Given the description of an element on the screen output the (x, y) to click on. 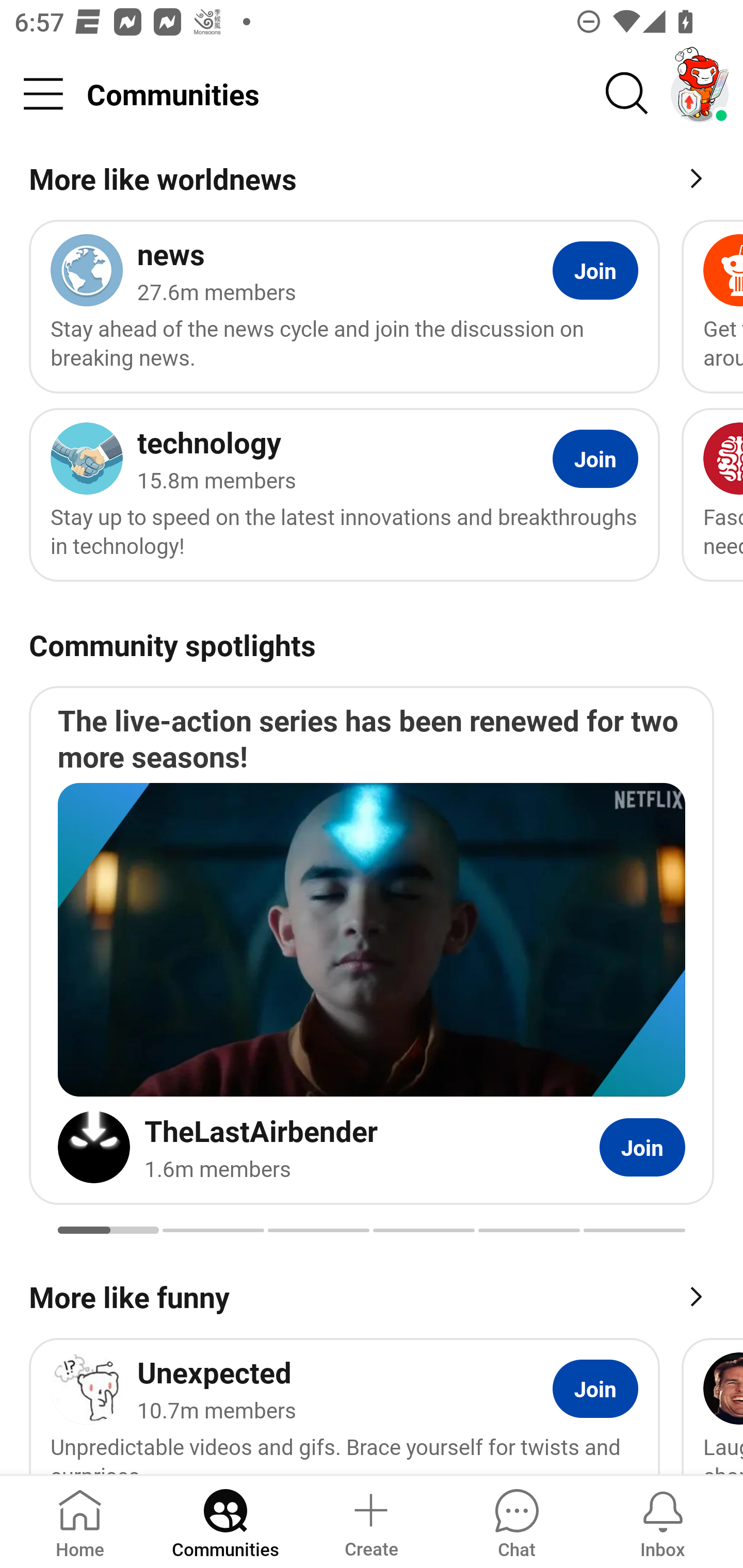
Community menu (43, 93)
Search (626, 93)
TestAppium002 account (699, 93)
More like worldnews View more (371, 181)
More like funny View more (371, 1294)
Home (80, 1520)
Communities (225, 1520)
Create a post Create (370, 1520)
Chat (516, 1520)
Inbox (662, 1520)
